Given the description of an element on the screen output the (x, y) to click on. 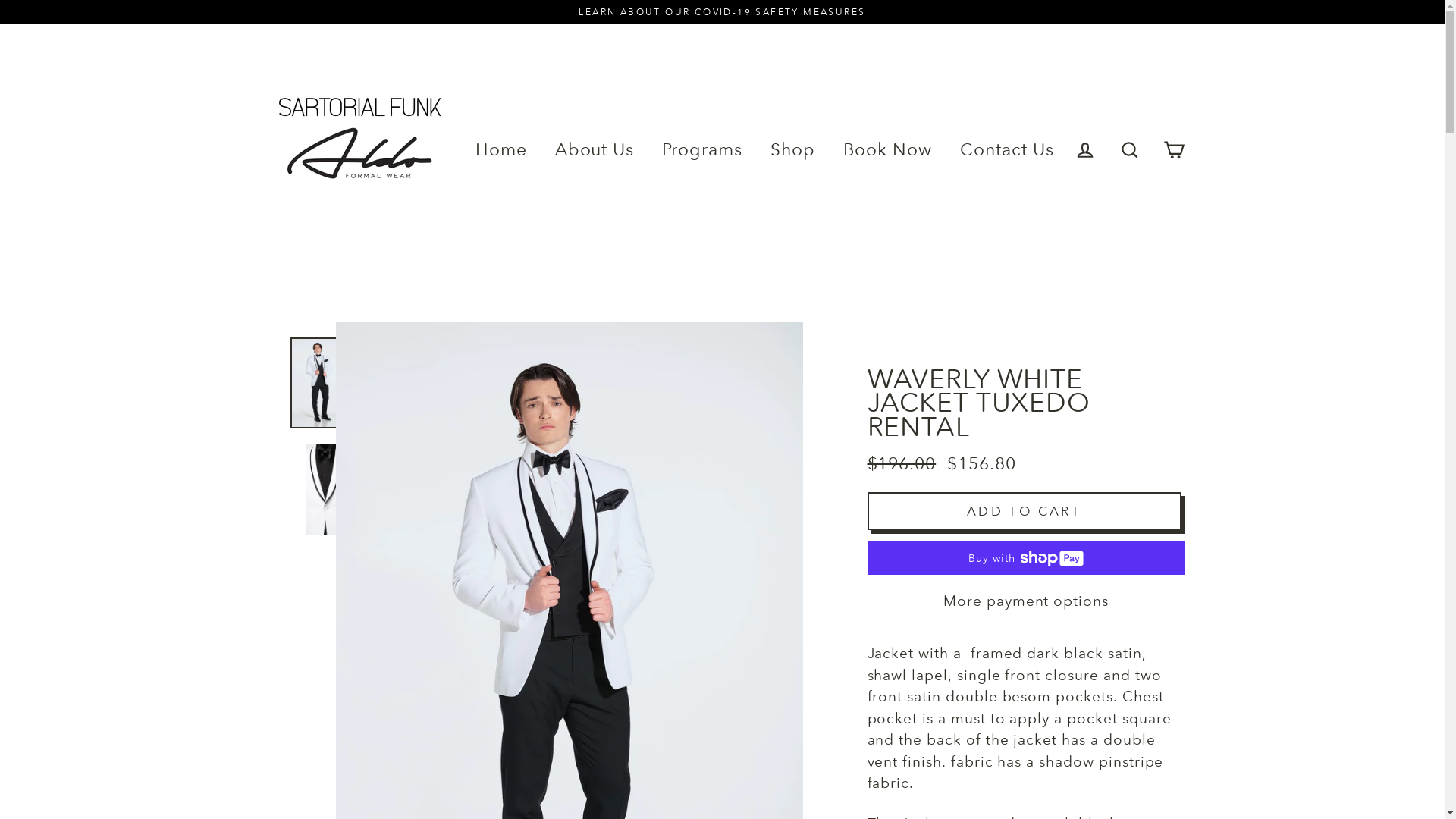
Log in Element type: text (1084, 149)
Programs Element type: text (701, 150)
Skip to content Element type: text (0, 0)
Home Element type: text (501, 150)
Cart Element type: text (1173, 149)
ADD TO CART Element type: text (1024, 511)
Search Element type: text (1129, 149)
Book Now Element type: text (887, 150)
About Us Element type: text (594, 150)
Shop Element type: text (792, 150)
More payment options Element type: text (1026, 600)
Contact Us Element type: text (1006, 150)
LEARN ABOUT OUR COVID-19 SAFETY MEASURES Element type: text (722, 11)
